Given the description of an element on the screen output the (x, y) to click on. 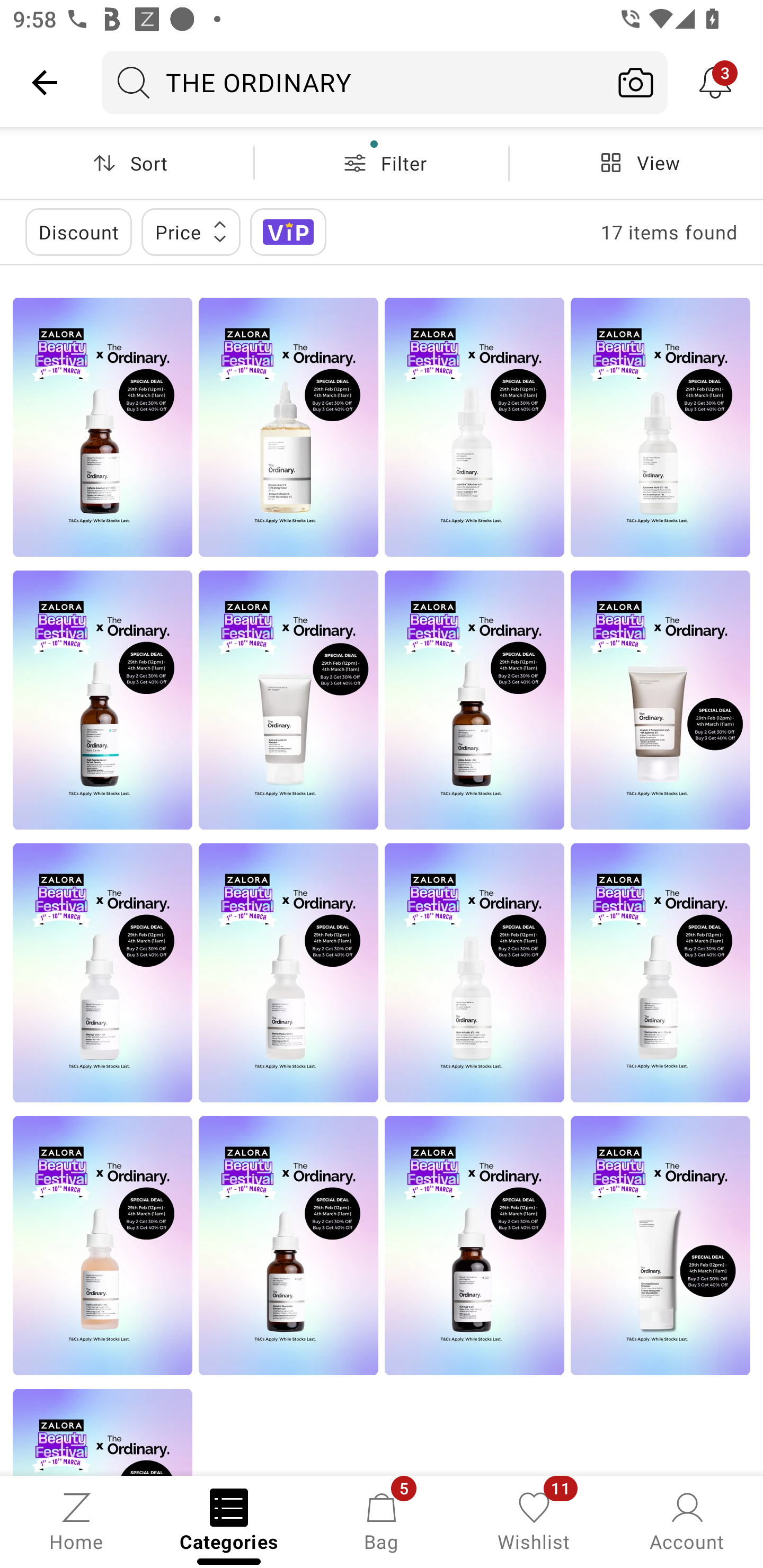
Navigate up (44, 82)
THE ORDINARY (352, 82)
Sort (126, 163)
Filter (381, 163)
View (636, 163)
Discount (78, 231)
Price (190, 231)
Home (76, 1519)
Bag, 5 new notifications Bag (381, 1519)
Wishlist, 11 new notifications Wishlist (533, 1519)
Account (686, 1519)
